Given the description of an element on the screen output the (x, y) to click on. 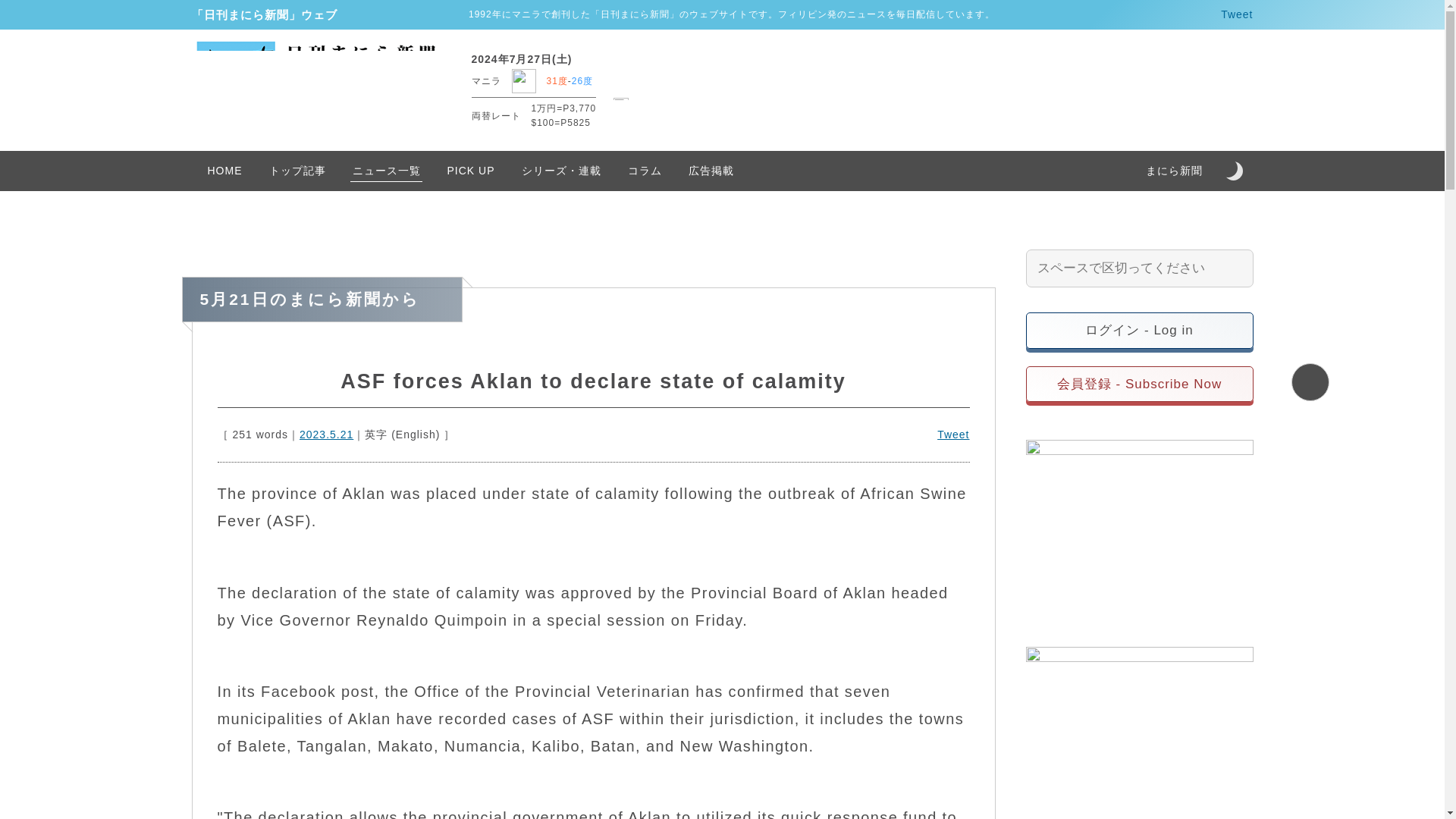
2023.5.21 (326, 434)
Tweet (1236, 14)
Tweet (953, 434)
HOME (224, 170)
PICK UP (470, 170)
